Given the description of an element on the screen output the (x, y) to click on. 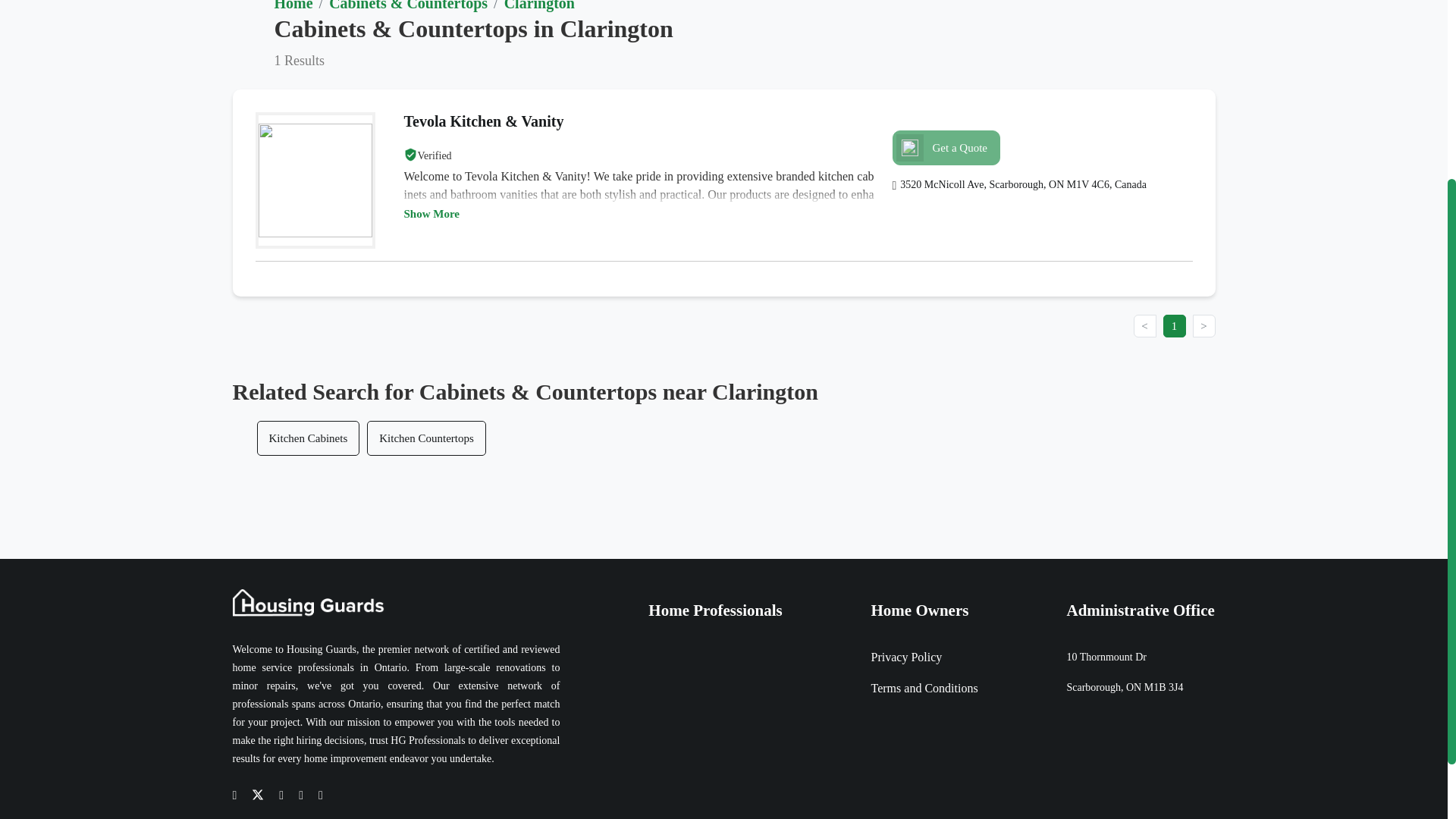
Terms and Conditions (924, 688)
Clarington (539, 5)
Kitchen Cabinets (307, 437)
Home (294, 5)
Kitchen Countertops (426, 437)
Privacy Policy (906, 657)
Get a Quote (946, 147)
1 (1174, 325)
